Given the description of an element on the screen output the (x, y) to click on. 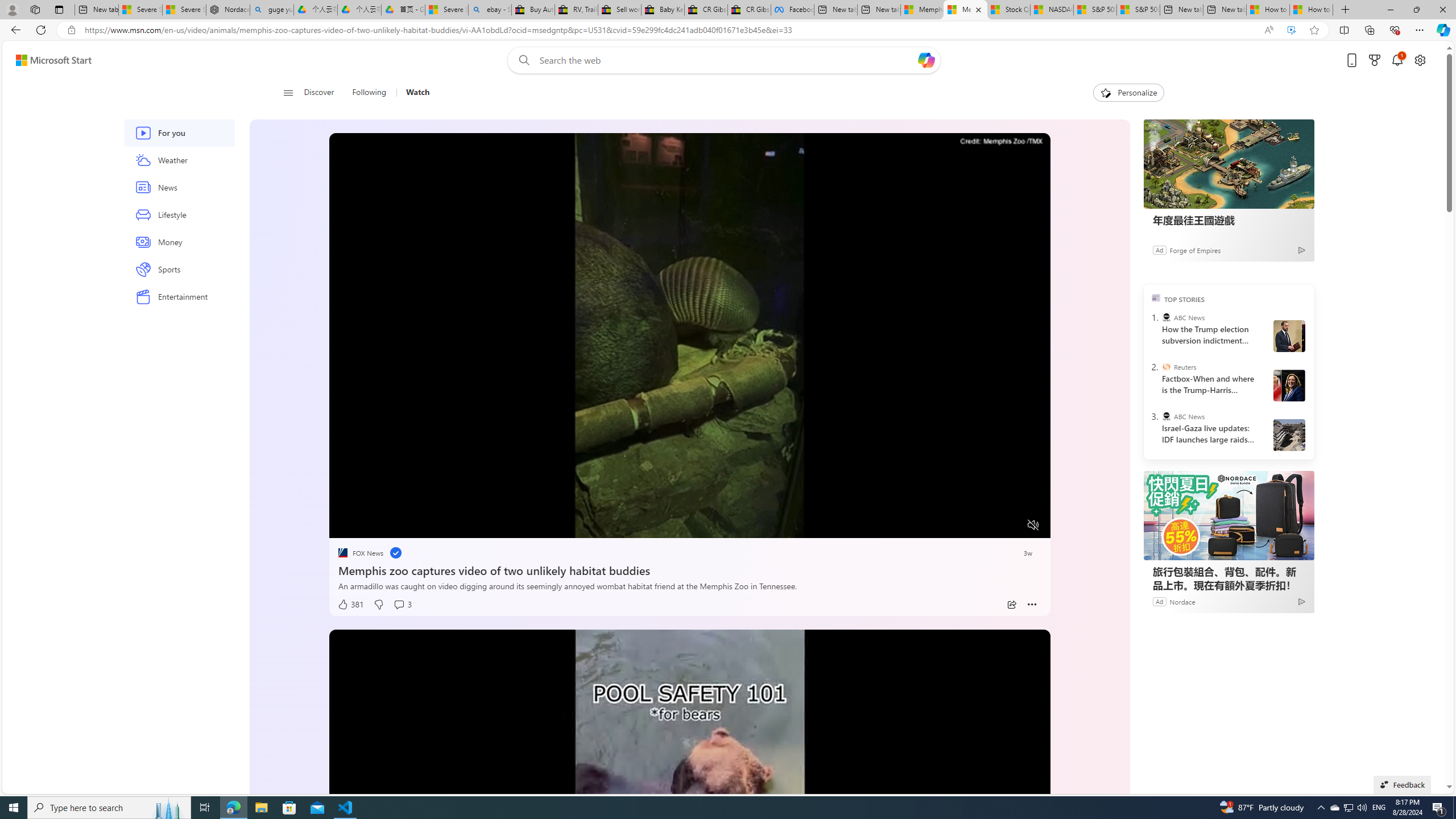
Notifications (1397, 60)
Pause (346, 525)
Watch (417, 92)
Reuters (1165, 366)
Skip to content (49, 59)
Enter your search term (726, 59)
Fullscreen (1011, 525)
Dislike (378, 604)
